Given the description of an element on the screen output the (x, y) to click on. 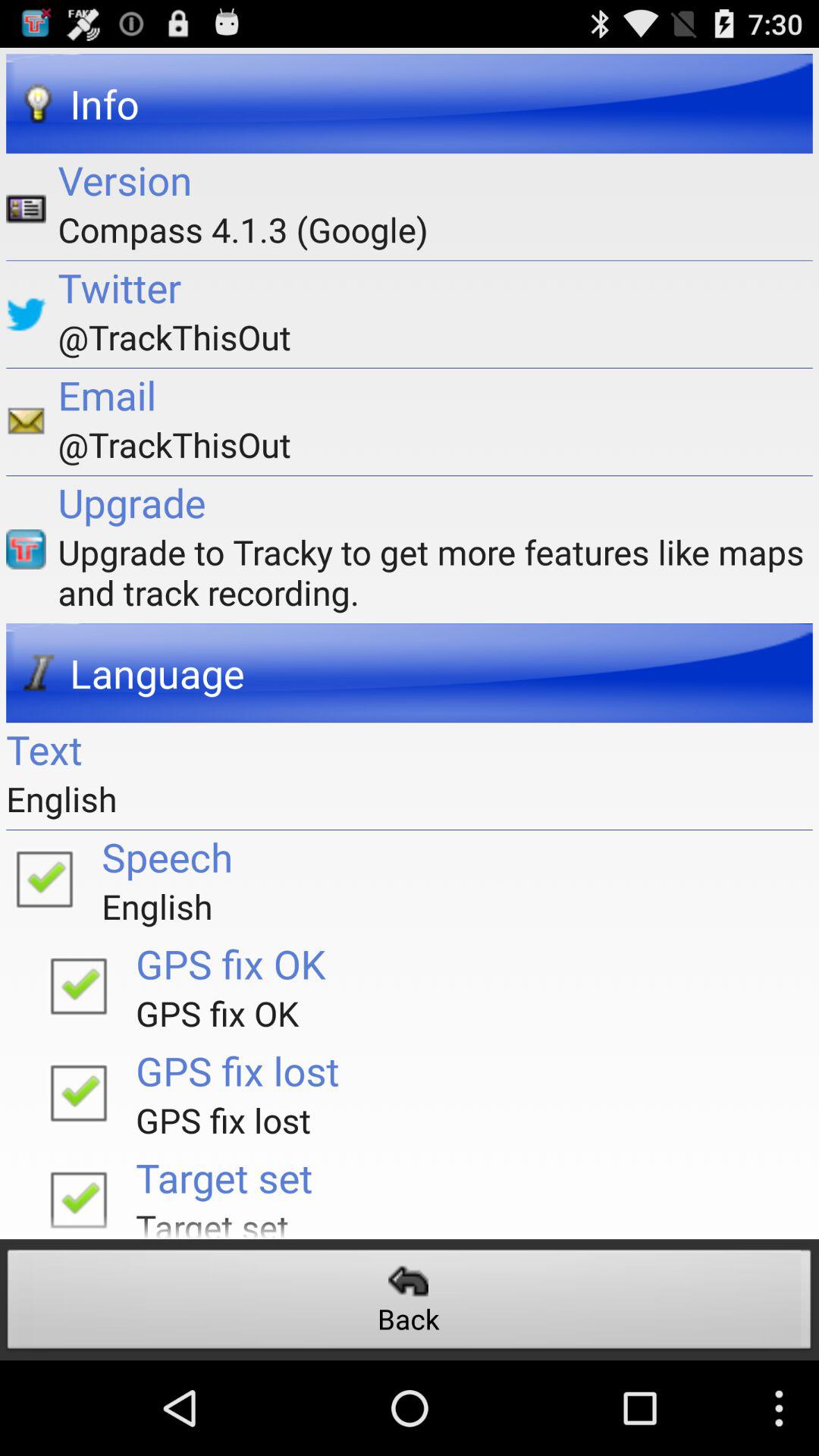
toggle gps fix (78, 984)
